Given the description of an element on the screen output the (x, y) to click on. 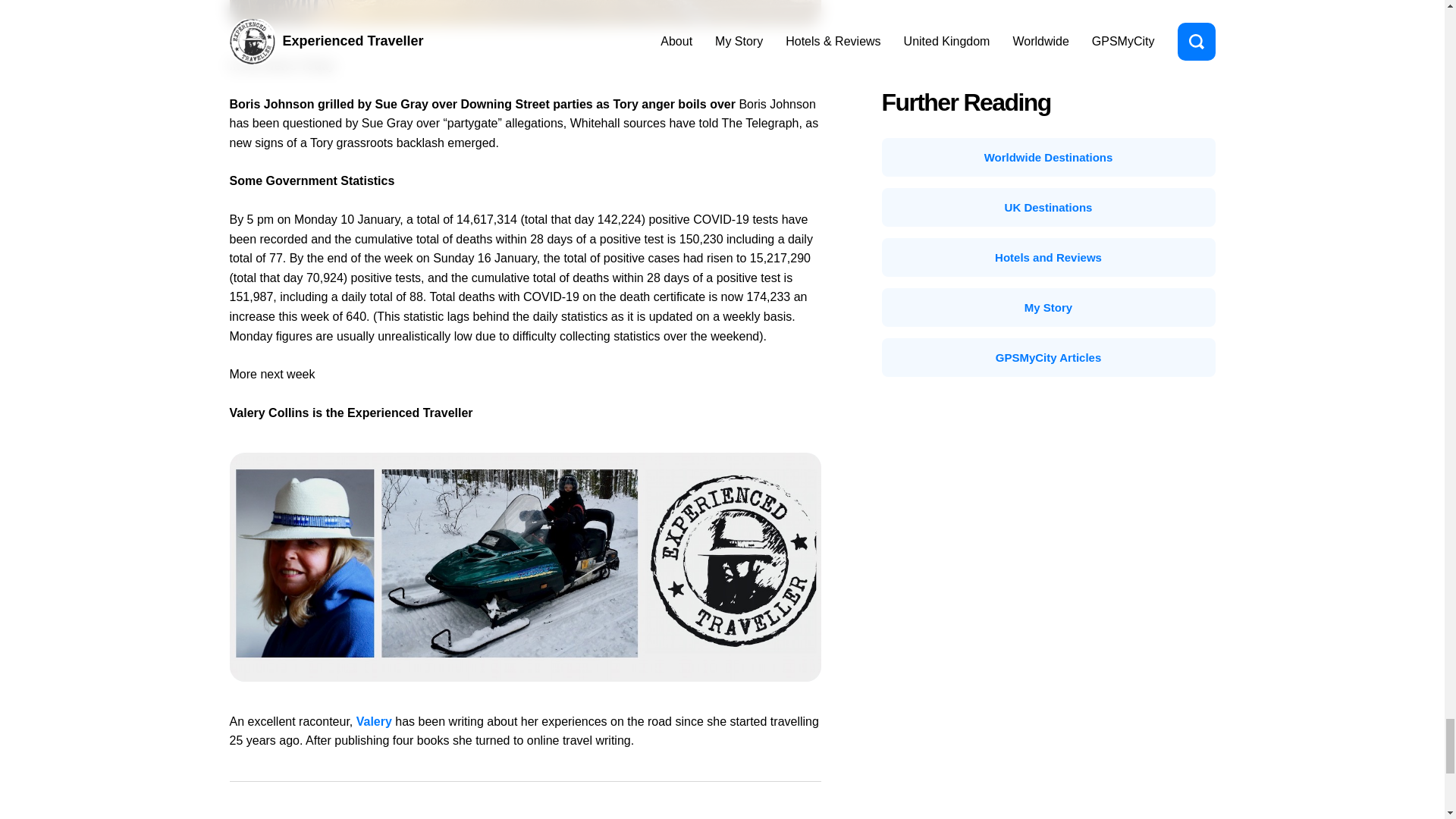
Early Morning in Folgaria, Italy (524, 12)
Valery (373, 721)
